Given the description of an element on the screen output the (x, y) to click on. 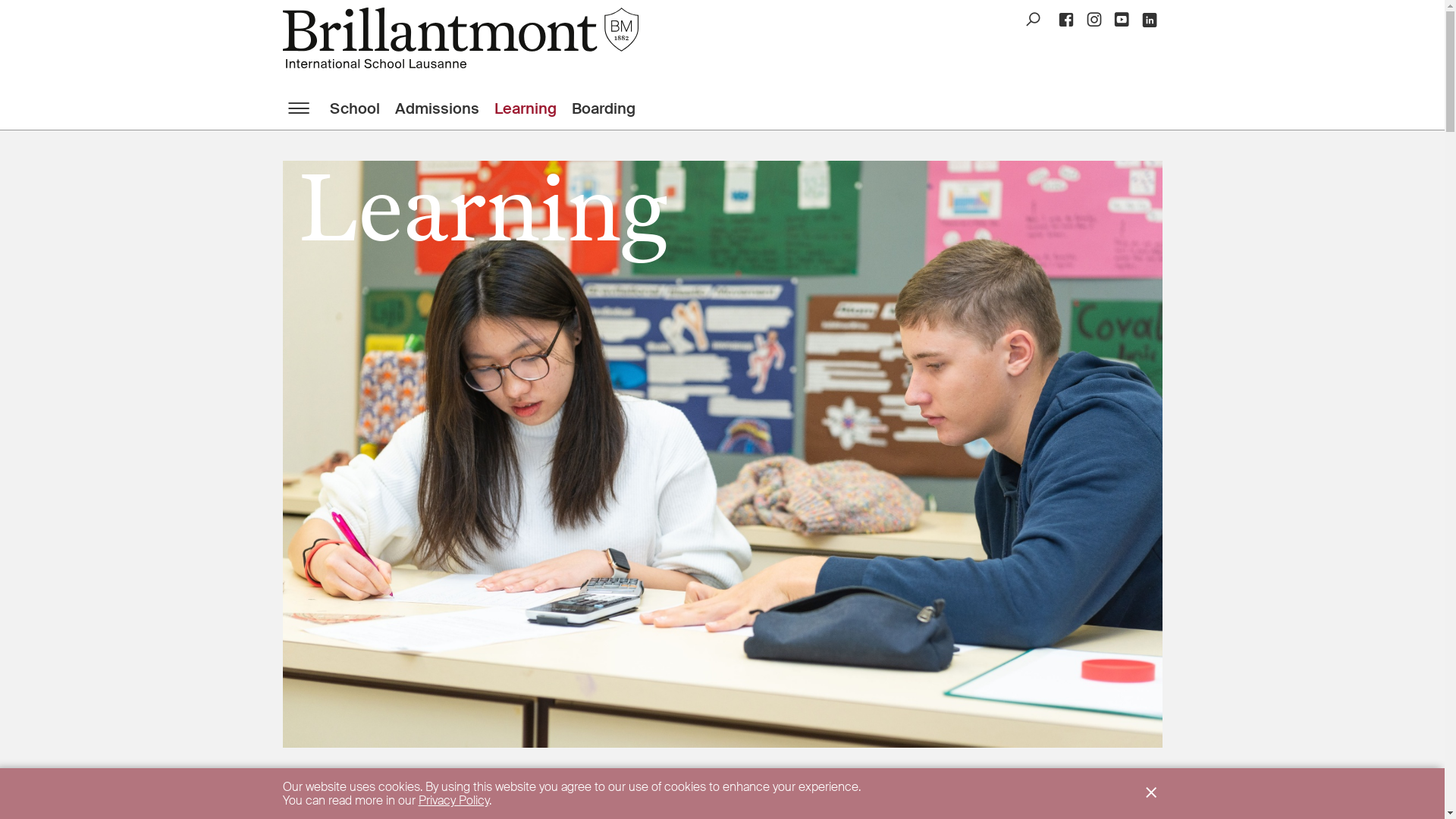
Boarding Element type: text (610, 108)
+4121 310 0400 Element type: text (615, 730)
School Element type: text (361, 108)
Learning Element type: text (532, 108)
info@brillantmont.ch Element type: text (624, 743)
Terms & Conditions Element type: text (754, 796)
Admissions Element type: text (443, 108)
Privacy Policy Element type: text (453, 800)
